Given the description of an element on the screen output the (x, y) to click on. 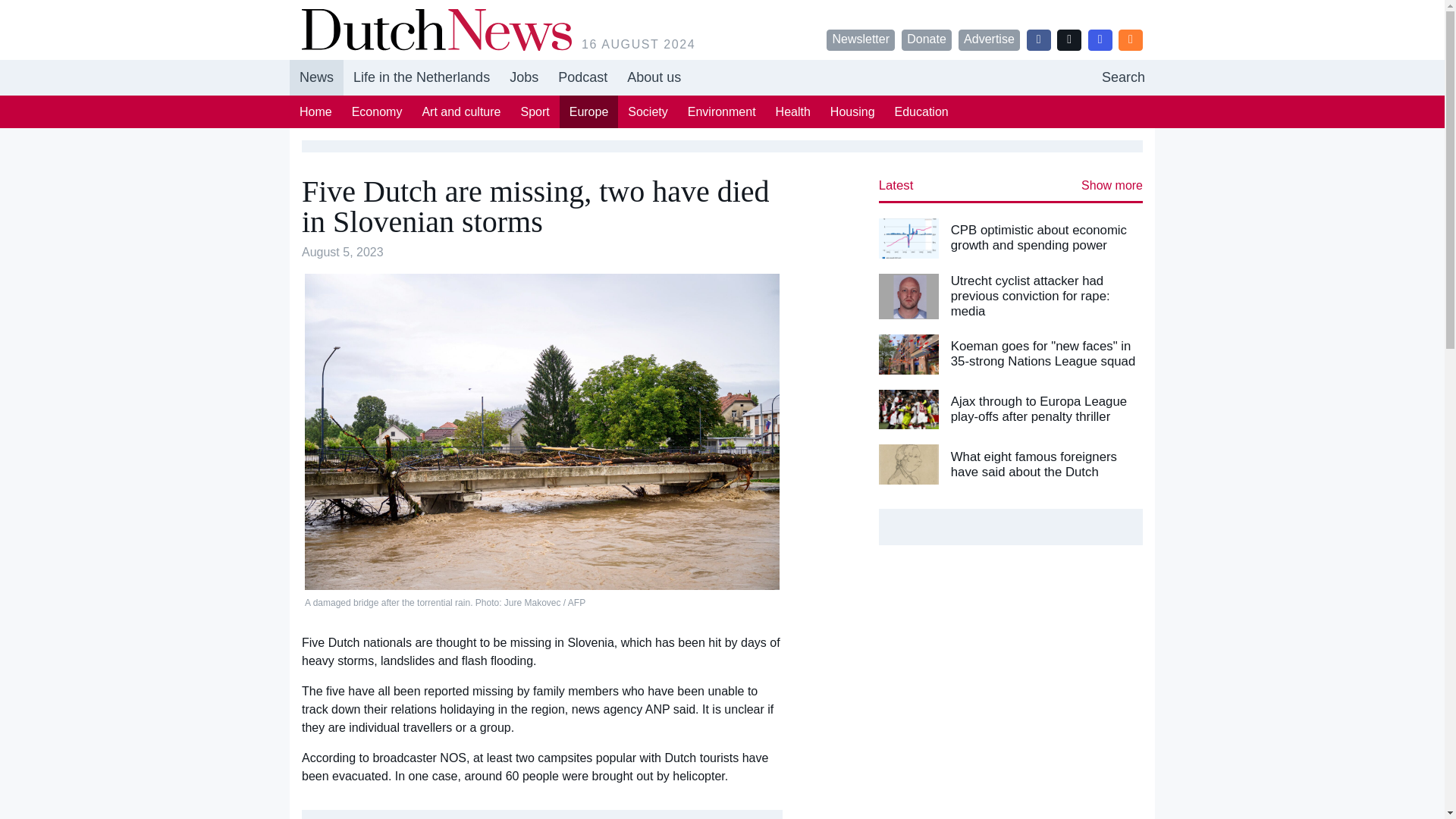
Search (1123, 77)
Europe (588, 111)
hidden-in-footer (1123, 77)
Economy (377, 111)
About us (653, 77)
Donate (926, 39)
Advertise (989, 39)
Society (647, 111)
hidden-in-footer (523, 77)
Art and culture (461, 111)
